Given the description of an element on the screen output the (x, y) to click on. 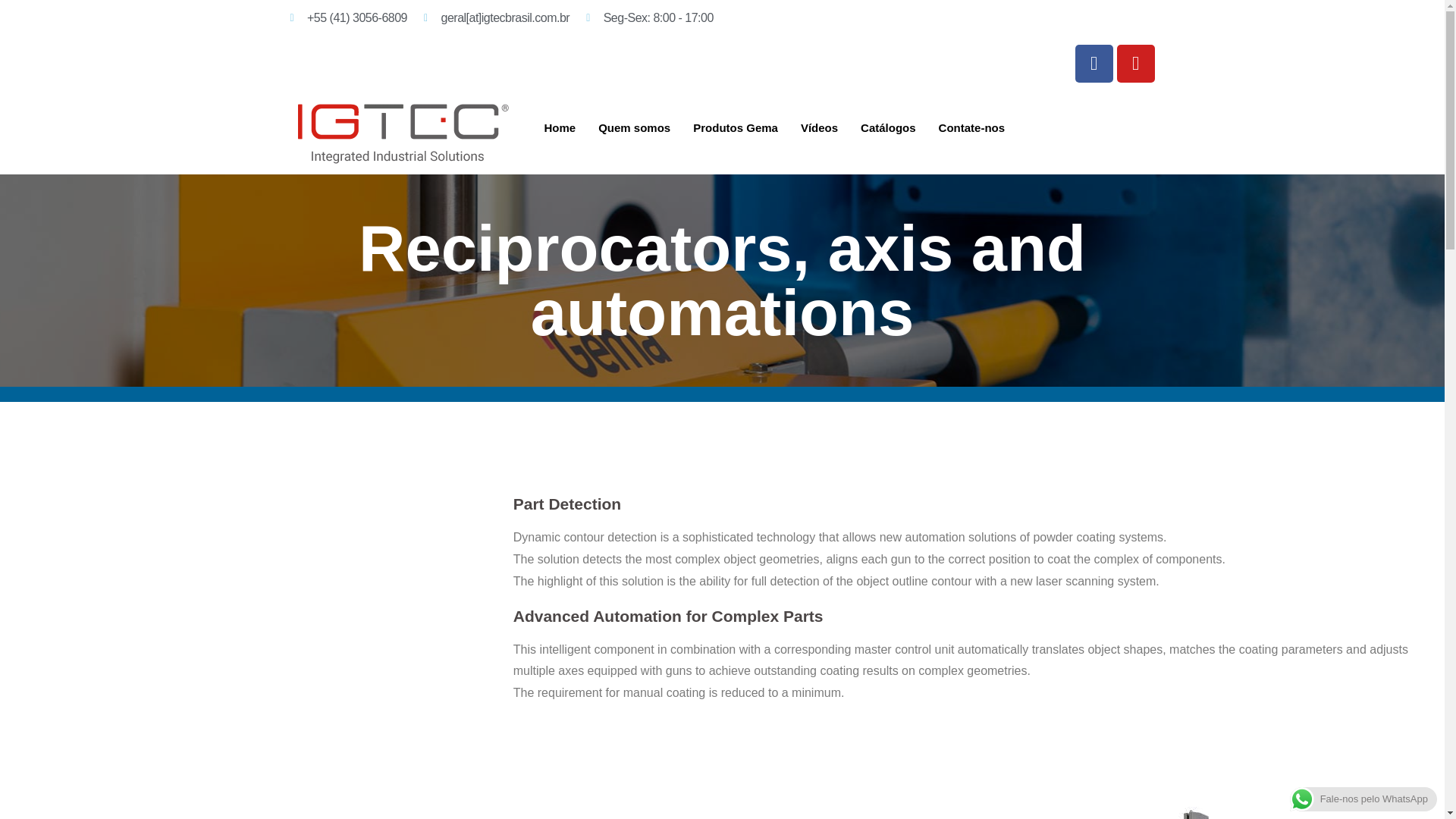
Quem somos (633, 127)
Home (559, 127)
Contate-nos (971, 127)
Produtos Gema (735, 127)
